Given the description of an element on the screen output the (x, y) to click on. 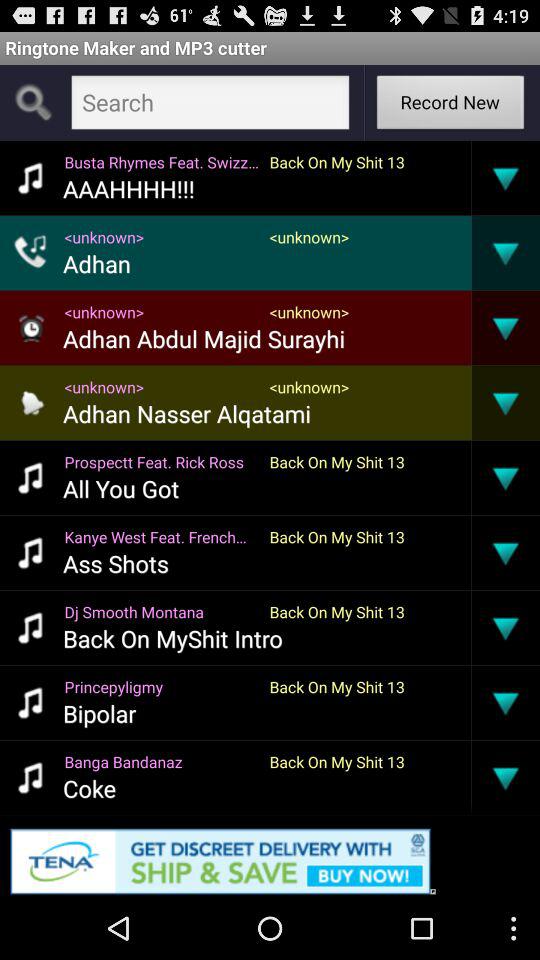
scroll to the banga bandanaz item (161, 761)
